Given the description of an element on the screen output the (x, y) to click on. 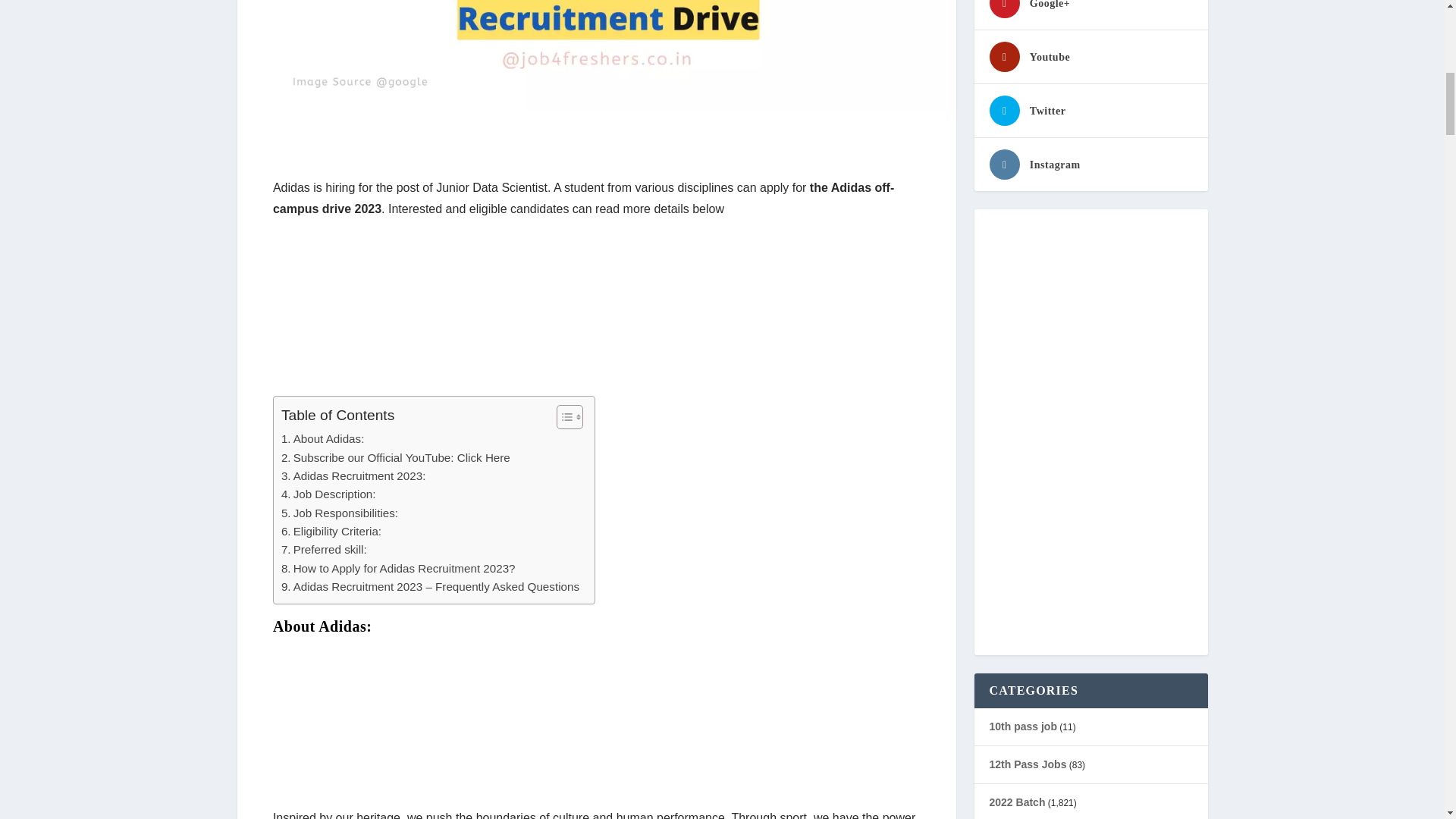
Job Description: (328, 494)
Preferred skill: (323, 549)
About Adidas: (322, 438)
Job Responsibilities: (339, 513)
Adidas Recruitment 2023: (353, 475)
Eligibility Criteria: (331, 531)
